Given the description of an element on the screen output the (x, y) to click on. 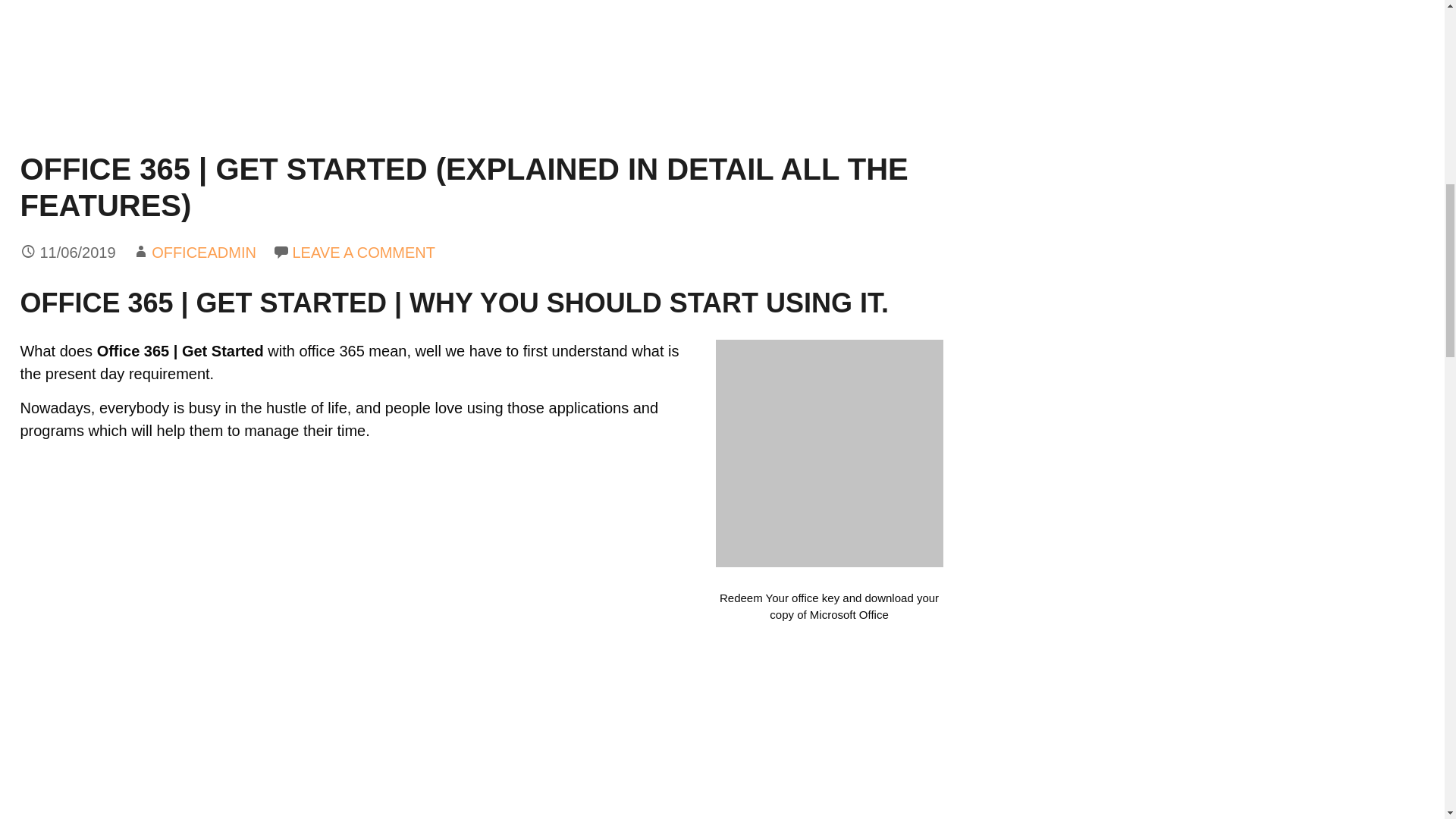
LEAVE A COMMENT (363, 252)
Advertisement (481, 71)
OFFICEADMIN (203, 252)
Posts by officeadmin (203, 252)
